Given the description of an element on the screen output the (x, y) to click on. 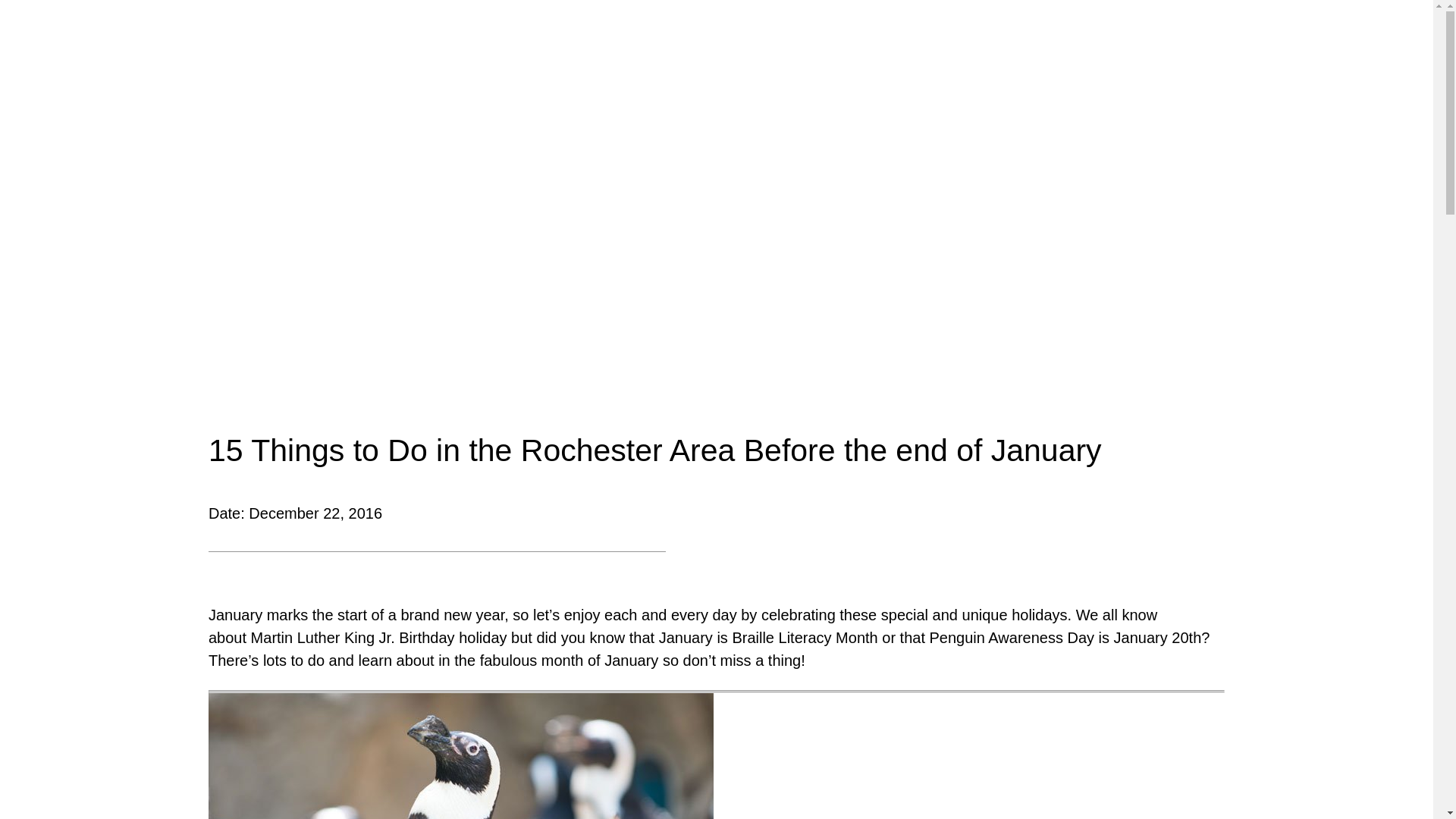
Seneca Zoo - Penquins (460, 755)
